Given the description of an element on the screen output the (x, y) to click on. 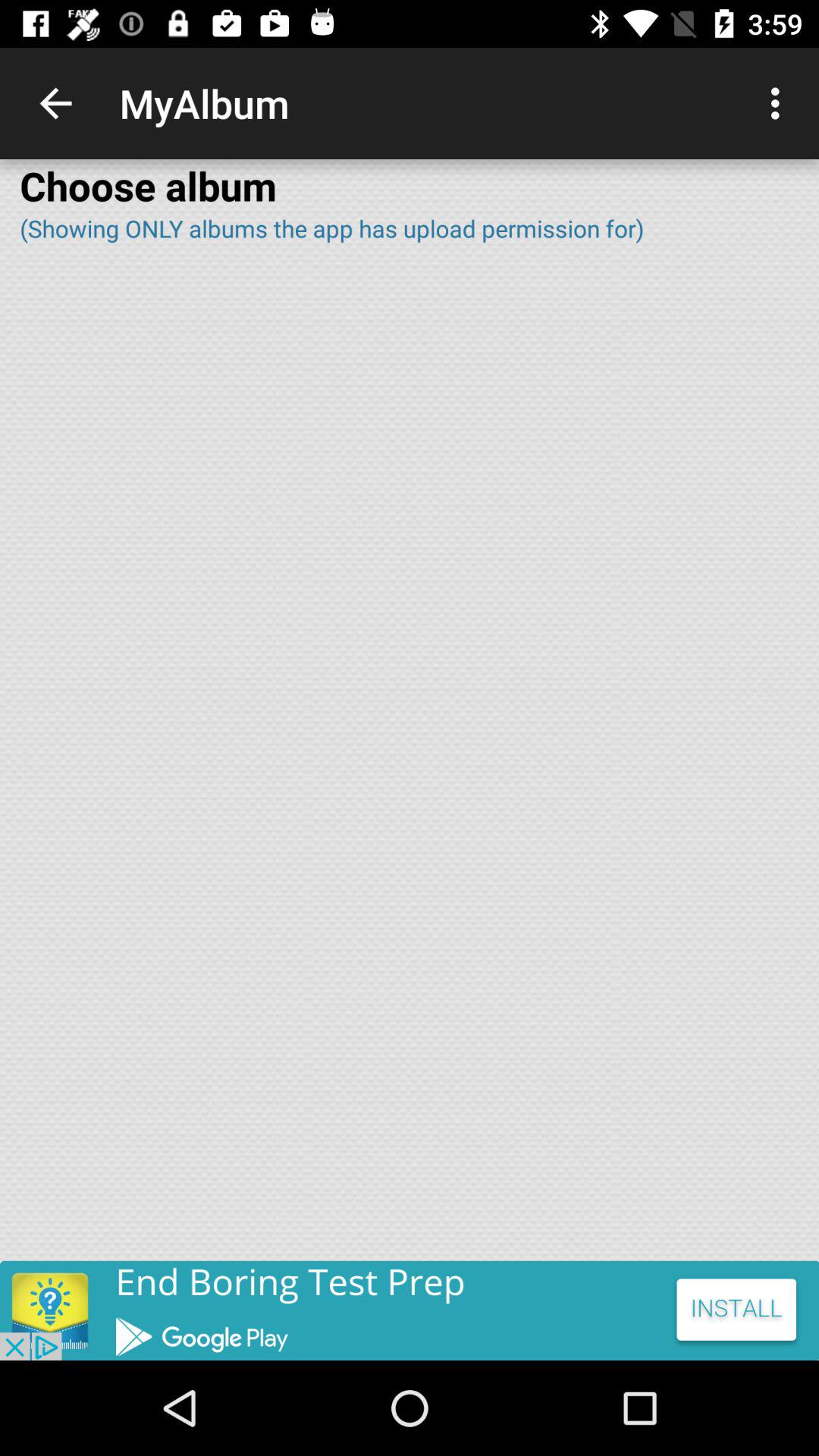
full page (409, 762)
